Given the description of an element on the screen output the (x, y) to click on. 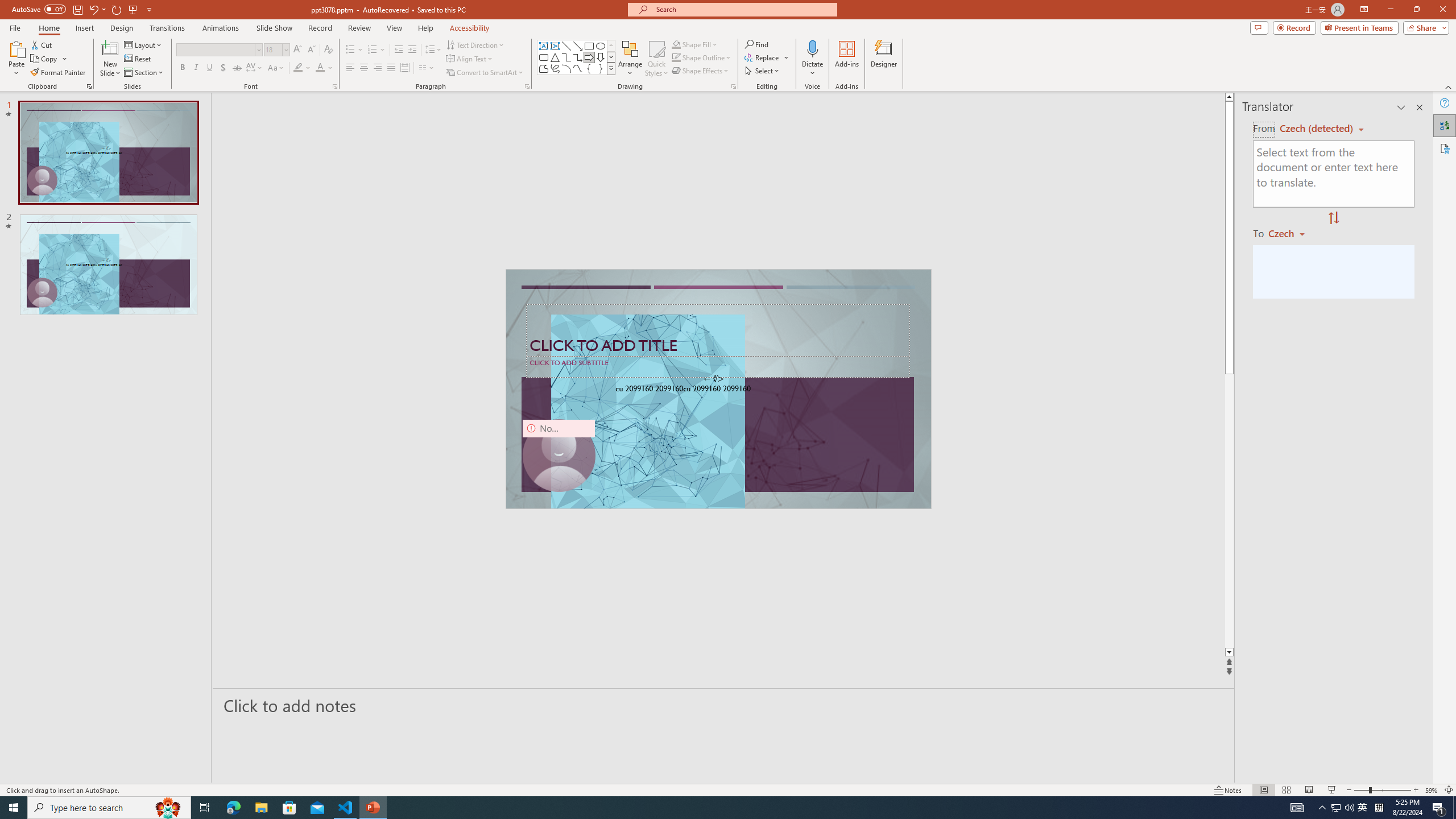
Zoom 59% (1431, 790)
